Given the description of an element on the screen output the (x, y) to click on. 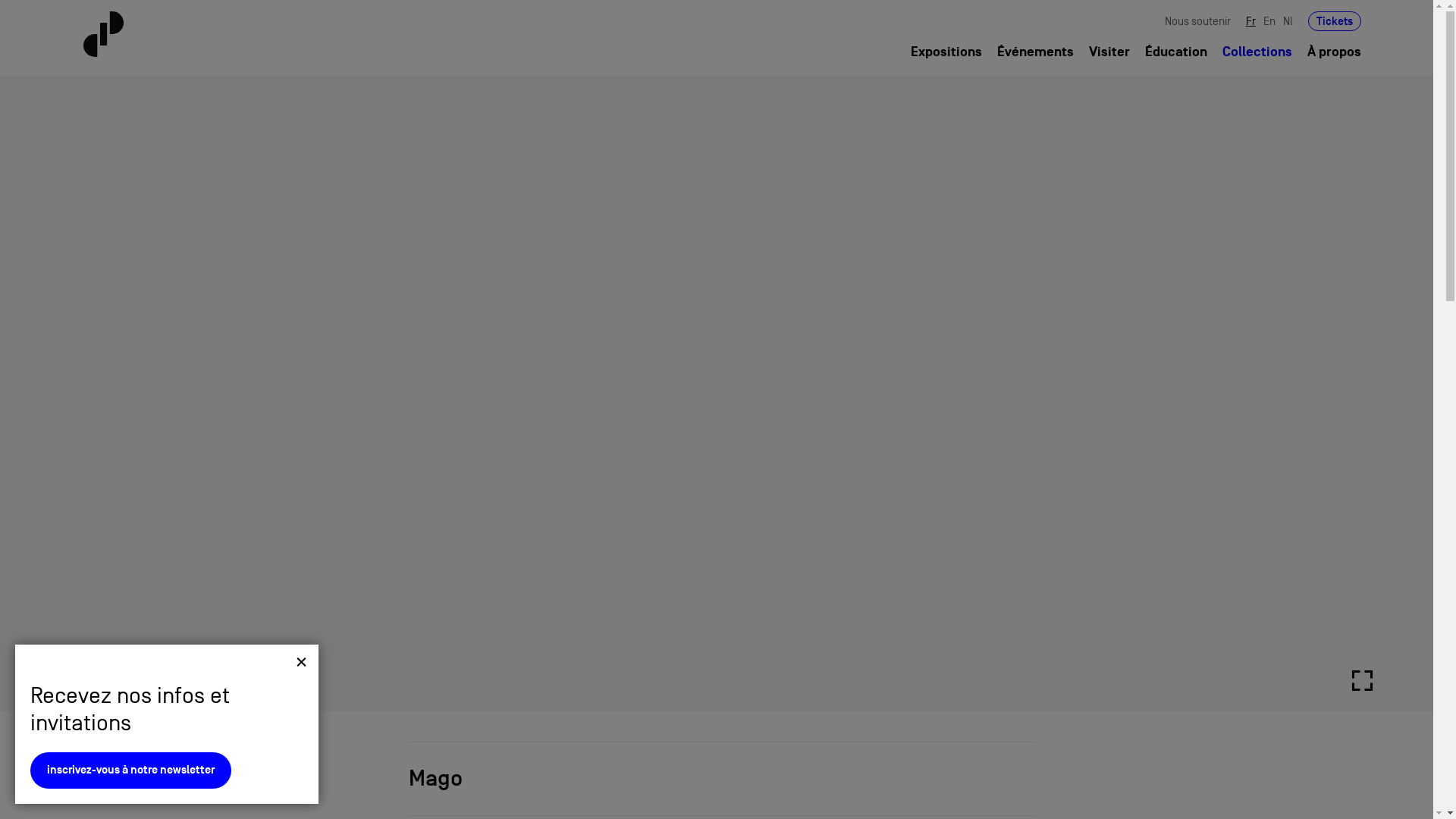
Collections Element type: text (130, 780)
Nous soutenir Element type: text (1197, 20)
Fr Element type: text (1250, 20)
Back to homepage Element type: hover (189, 33)
Nl Element type: text (1287, 20)
Expositions Element type: text (946, 51)
Visiter Element type: text (1108, 51)
Close Element type: text (301, 671)
Tickets Element type: text (1334, 21)
Collections Element type: text (1257, 51)
En Element type: text (1269, 20)
